Given the description of an element on the screen output the (x, y) to click on. 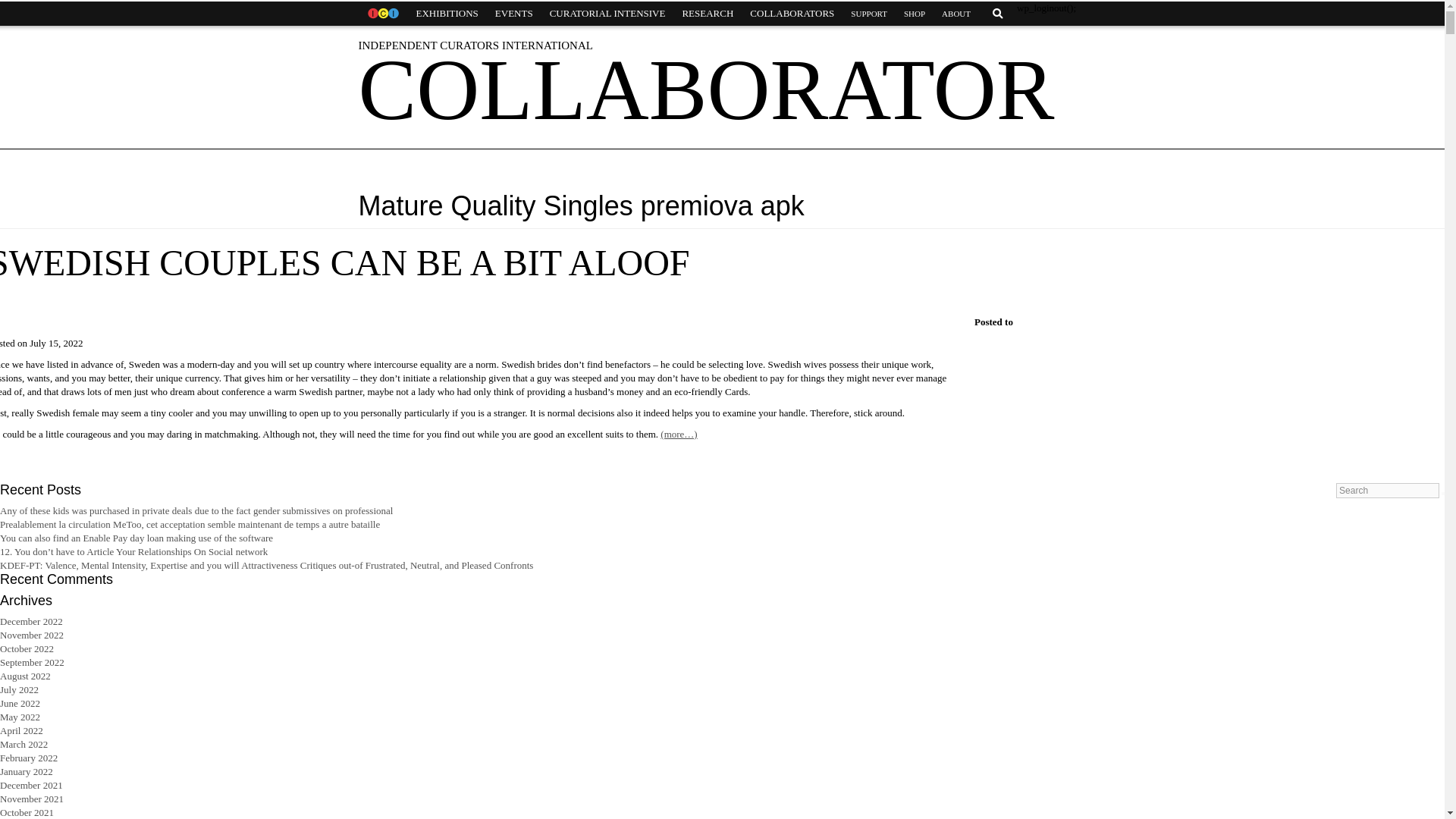
COLLABORATORS (792, 13)
EVENTS (513, 13)
CURATORIAL INTENSIVE (607, 13)
RESEARCH (706, 13)
HOME (382, 13)
EXHIBITIONS (446, 13)
